Given the description of an element on the screen output the (x, y) to click on. 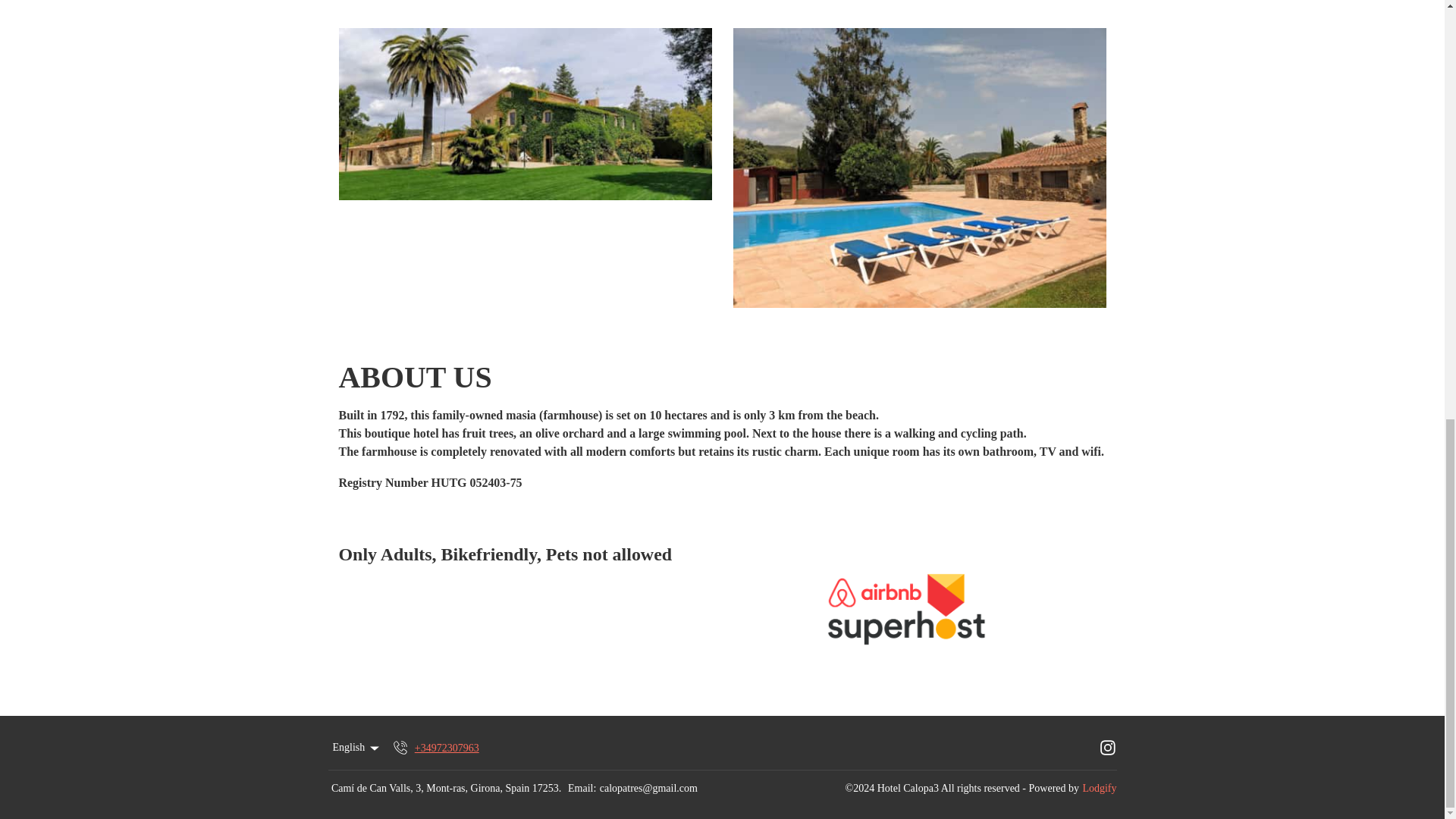
Instagram (1106, 748)
Image Title (524, 113)
Image Title (918, 167)
Instagram (1106, 748)
Lodgify (1098, 788)
English (356, 748)
